Given the description of an element on the screen output the (x, y) to click on. 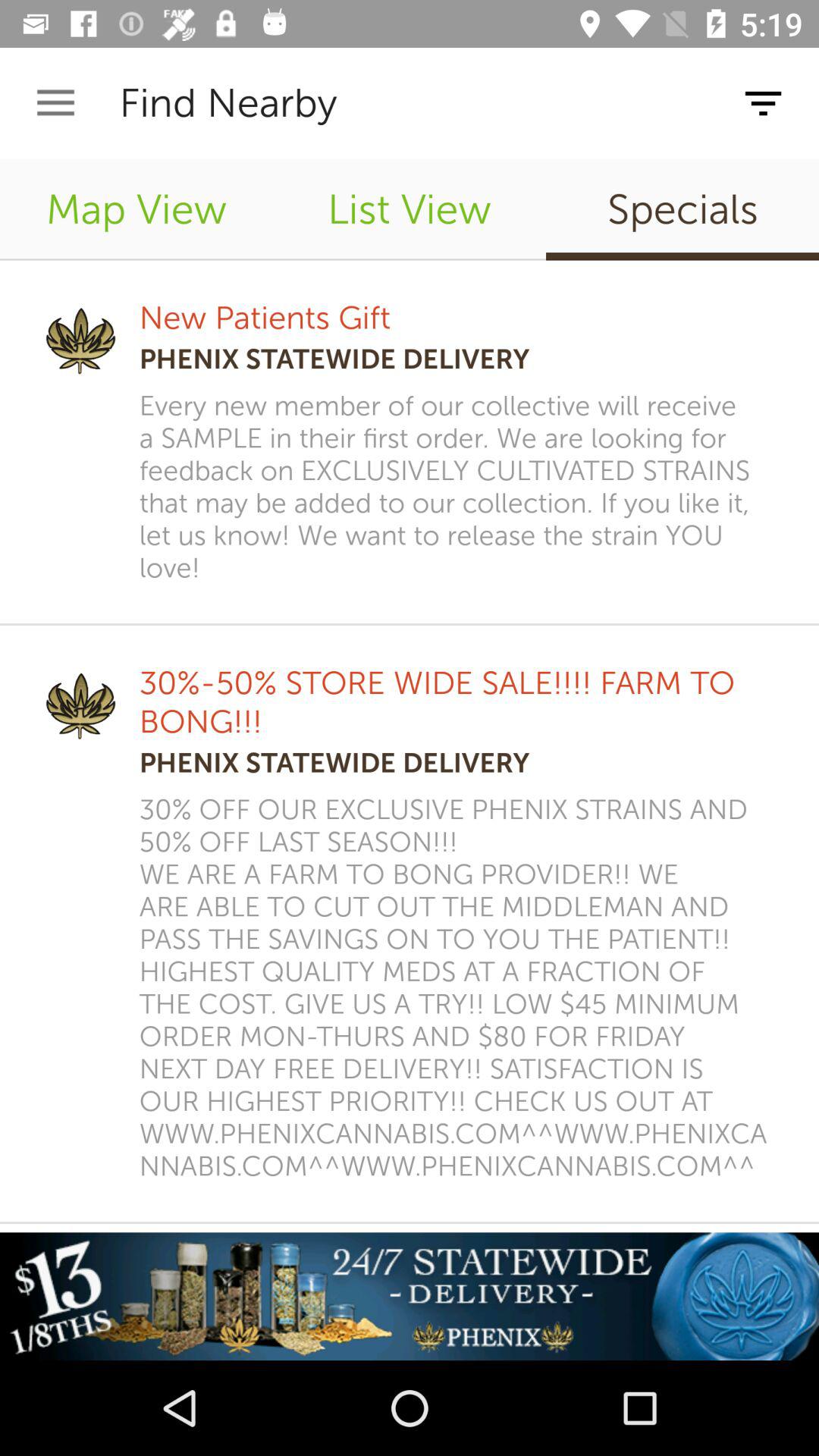
launch specials (682, 209)
